Given the description of an element on the screen output the (x, y) to click on. 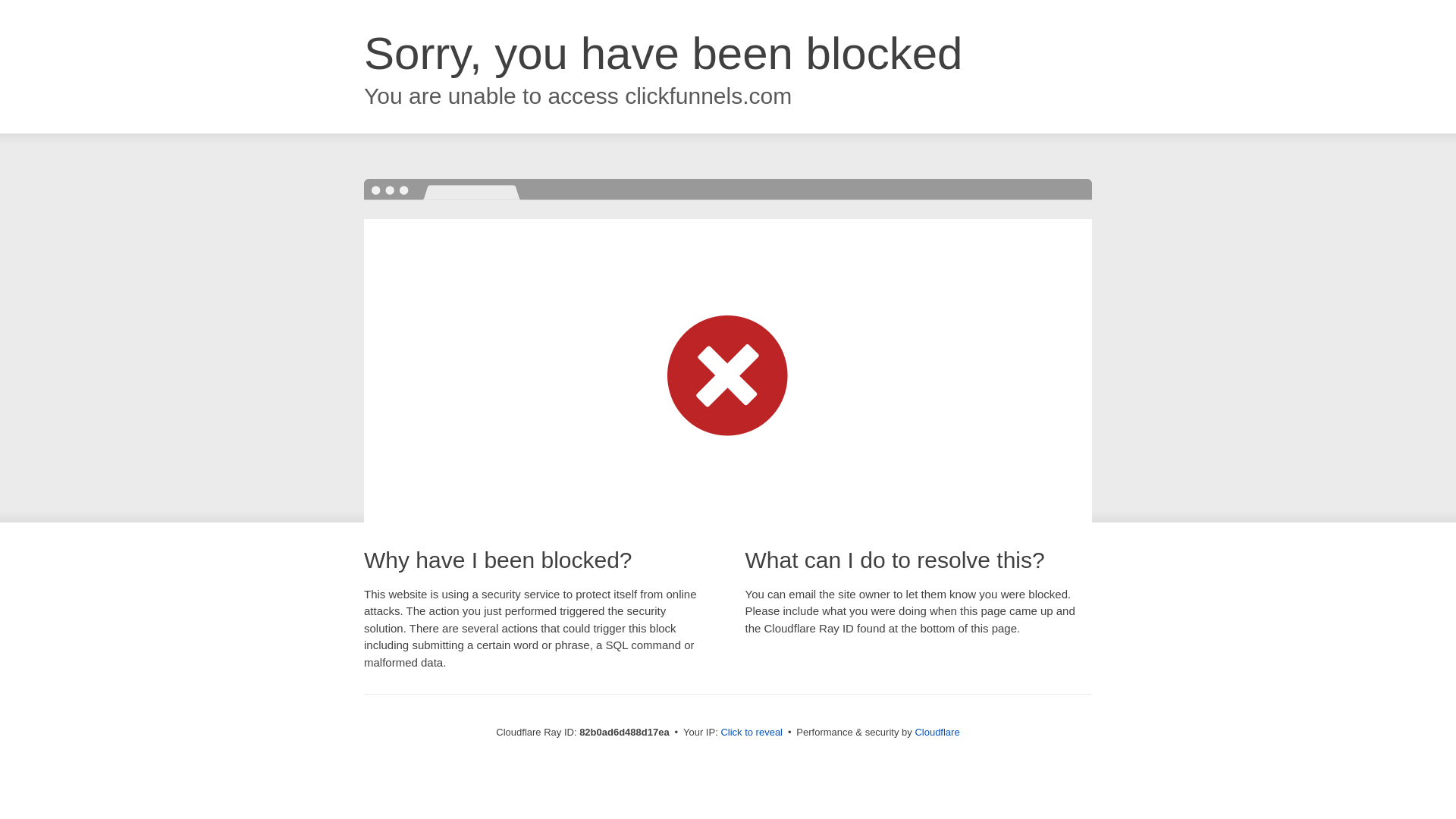
Cloudflare Element type: text (936, 731)
Click to reveal Element type: text (751, 732)
